Given the description of an element on the screen output the (x, y) to click on. 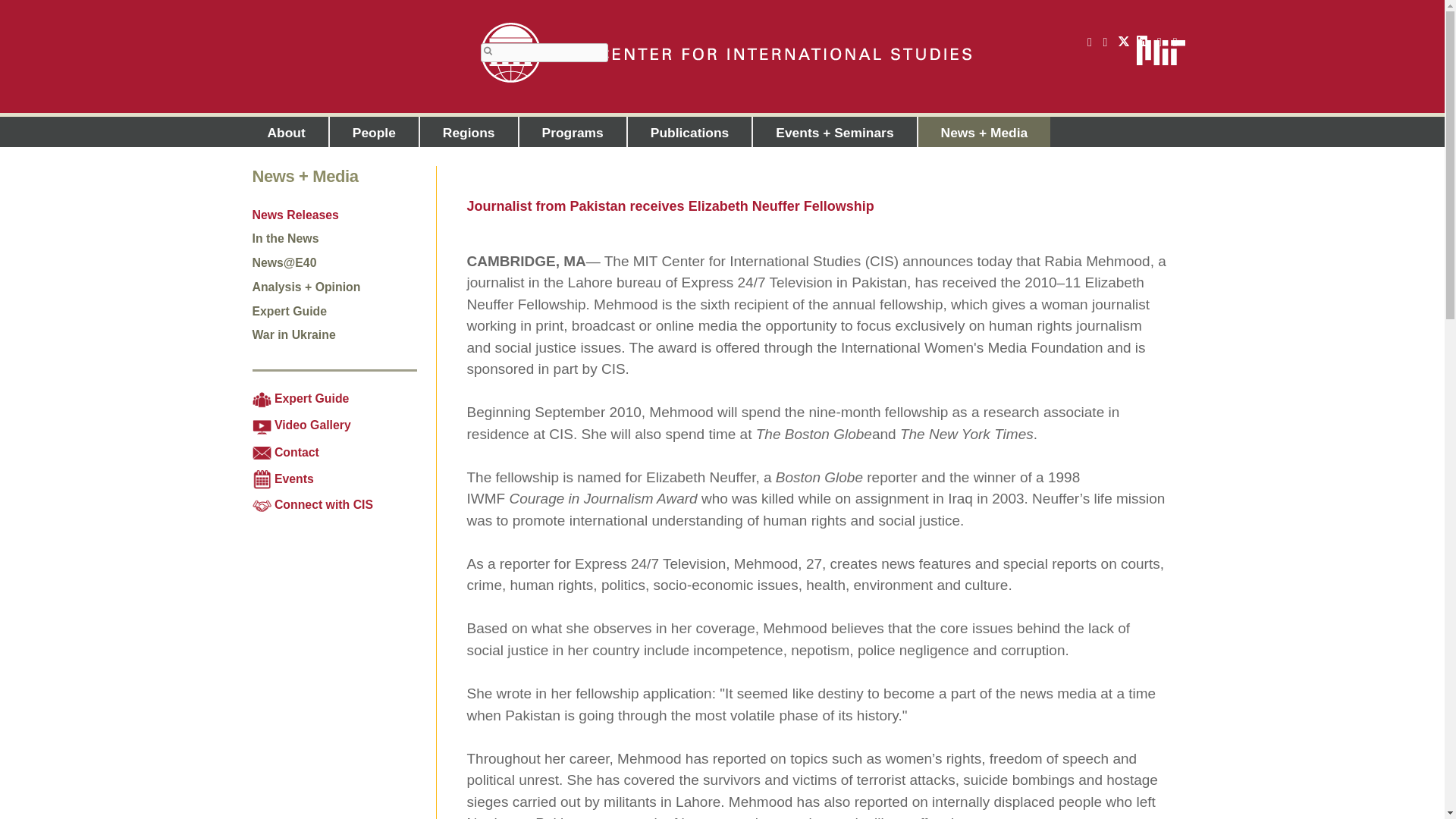
Home page (725, 52)
Search (488, 50)
People (374, 132)
Programs (572, 132)
About (285, 132)
Enter the terms you wish to search for. (544, 53)
Regions (469, 132)
Search (488, 50)
Publications (689, 132)
